Given the description of an element on the screen output the (x, y) to click on. 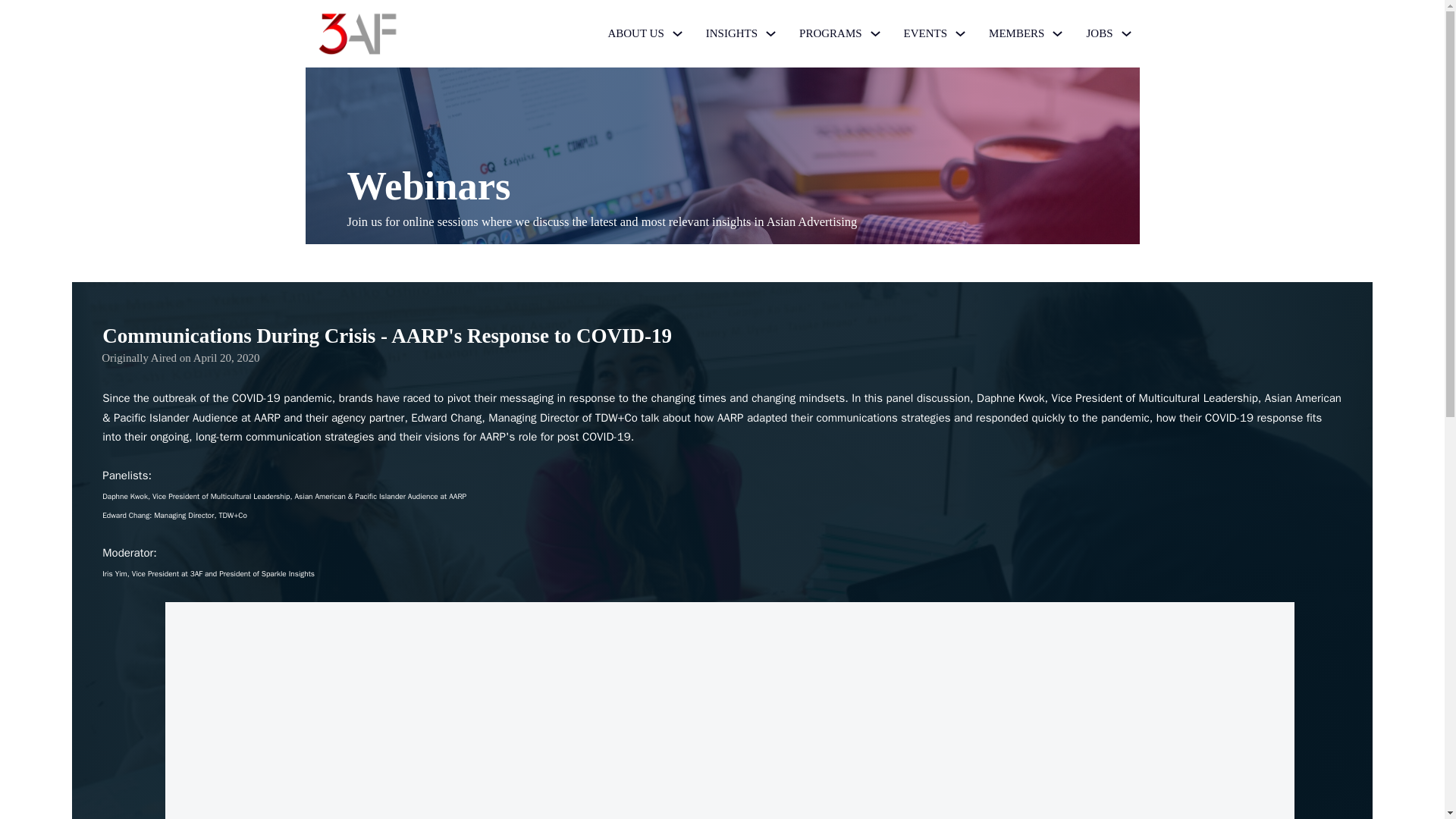
ABOUT US (635, 33)
PROGRAMS (830, 33)
EVENTS (925, 33)
3AF Asian American Advertising Federation (356, 33)
INSIGHTS (731, 33)
MEMBERS (1015, 33)
